Given the description of an element on the screen output the (x, y) to click on. 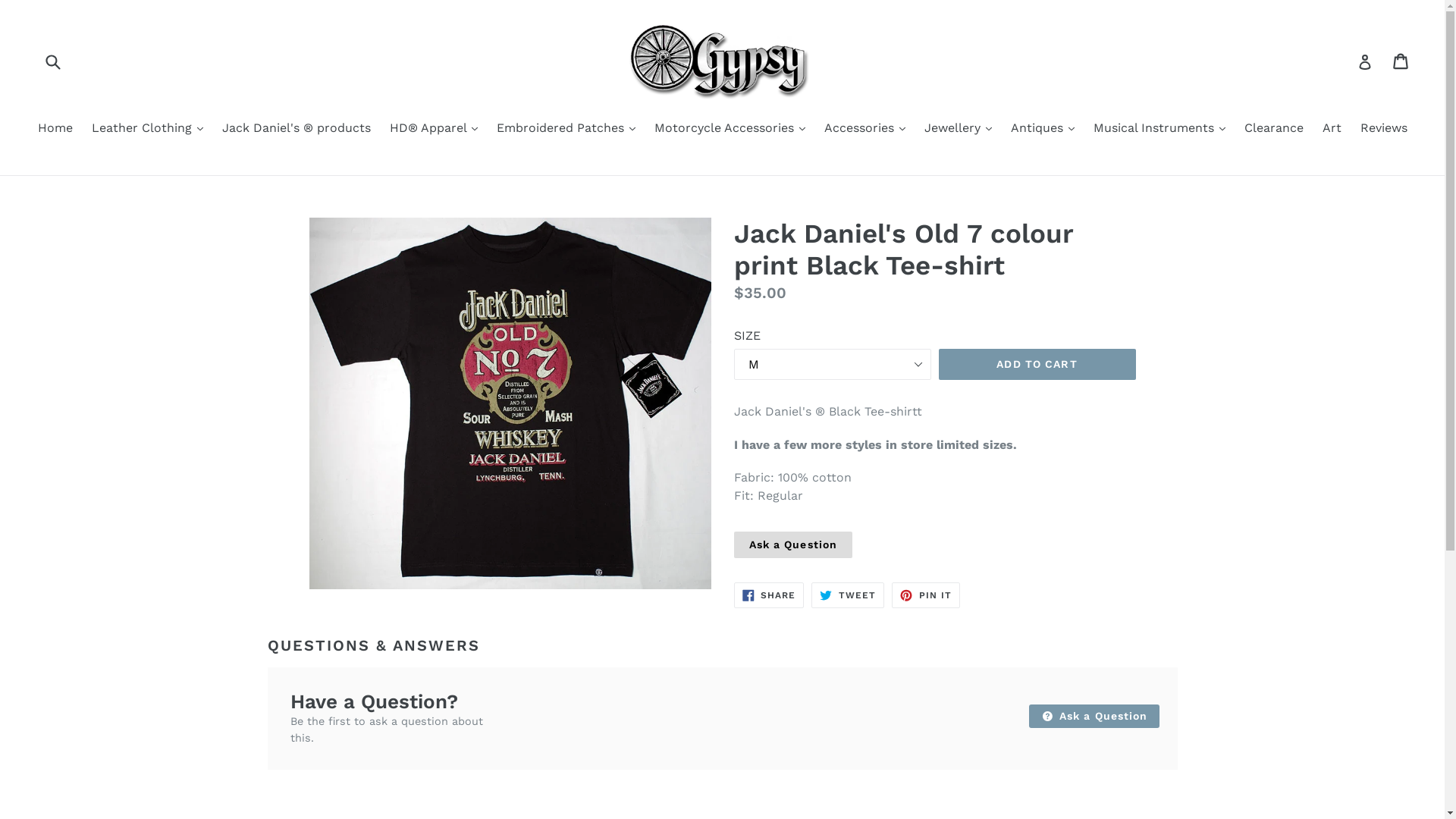
Art Element type: text (1331, 129)
SHARE
SHARE ON FACEBOOK Element type: text (769, 595)
Log in Element type: text (1364, 61)
Ask a Question Element type: text (793, 544)
Submit Element type: text (51, 60)
Reviews Element type: text (1383, 129)
TWEET
TWEET ON TWITTER Element type: text (847, 595)
PIN IT
PIN ON PINTEREST Element type: text (925, 595)
ADD TO CART Element type: text (1036, 364)
Home Element type: text (55, 129)
Cart
Cart Element type: text (1401, 60)
Clearance Element type: text (1273, 129)
Ask a Question Element type: text (1093, 716)
